Given the description of an element on the screen output the (x, y) to click on. 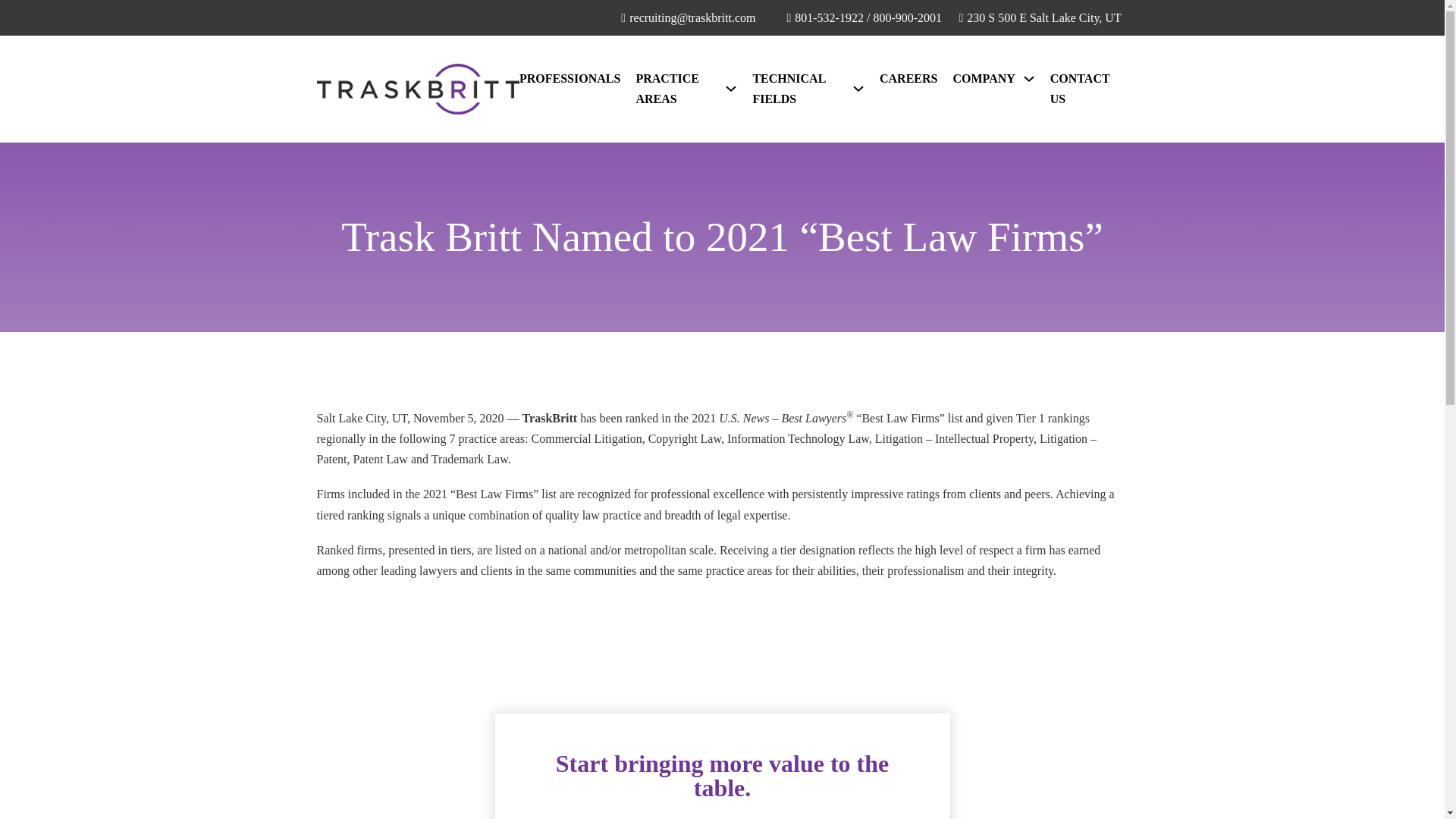
COMPANY (983, 78)
PROFESSIONALS (569, 78)
TECHNICAL FIELDS (798, 88)
PRACTICE AREAS (675, 88)
CONTACT US (1081, 88)
CAREERS (908, 78)
